Given the description of an element on the screen output the (x, y) to click on. 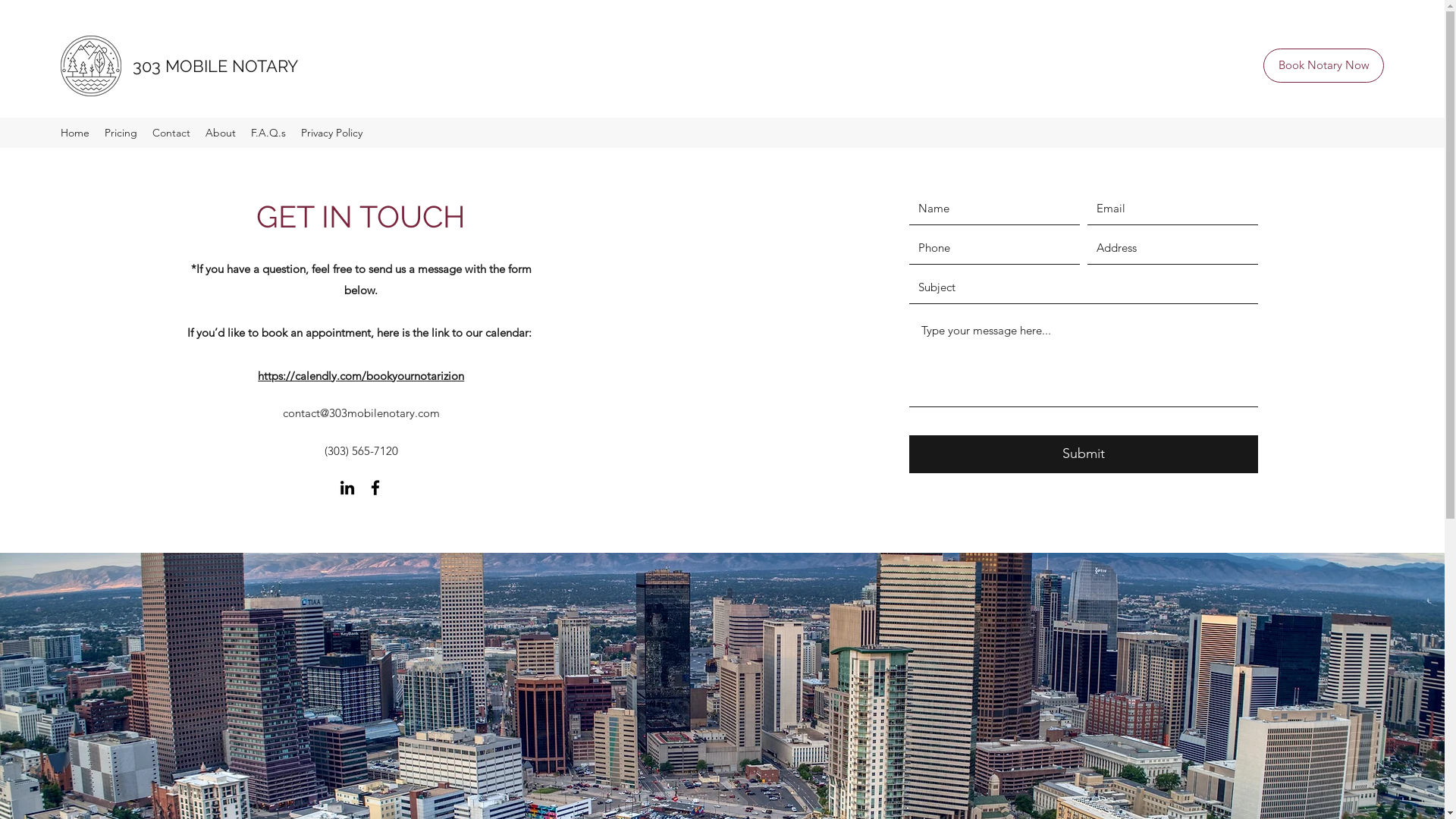
Privacy Policy Element type: text (331, 132)
contact@303mobilenotary.com Element type: text (360, 412)
Book Notary Now Element type: text (1323, 65)
About Element type: text (220, 132)
https://calendly.com/bookyournotarizion Element type: text (360, 375)
Pricing Element type: text (120, 132)
Submit Element type: text (1083, 454)
F.A.Q.s Element type: text (268, 132)
Home Element type: text (75, 132)
303 MOBILE NOTARY Element type: text (215, 65)
Contact Element type: text (170, 132)
